Given the description of an element on the screen output the (x, y) to click on. 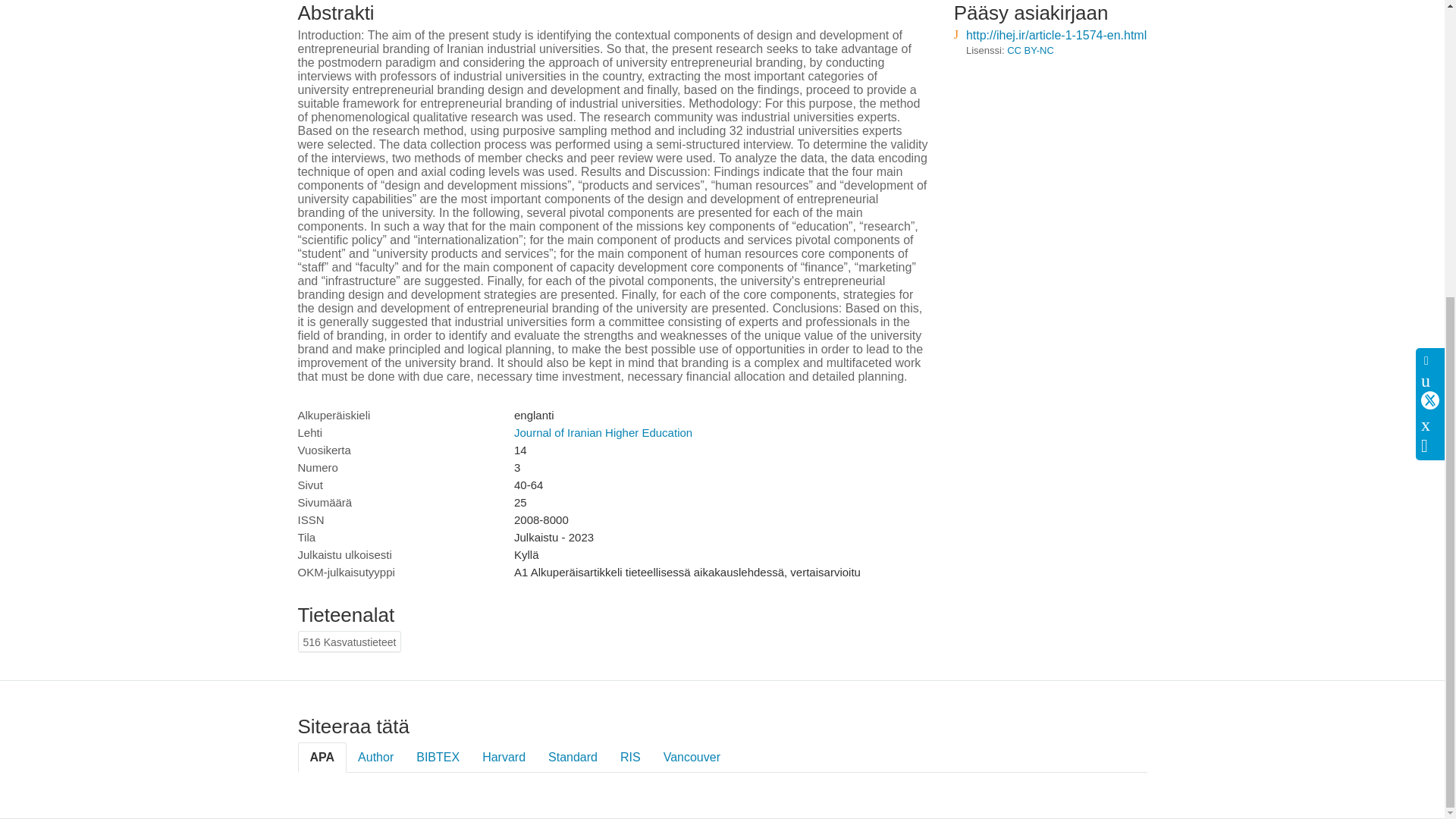
CC BY-NC (1030, 50)
Journal of Iranian Higher Education (603, 431)
